Given the description of an element on the screen output the (x, y) to click on. 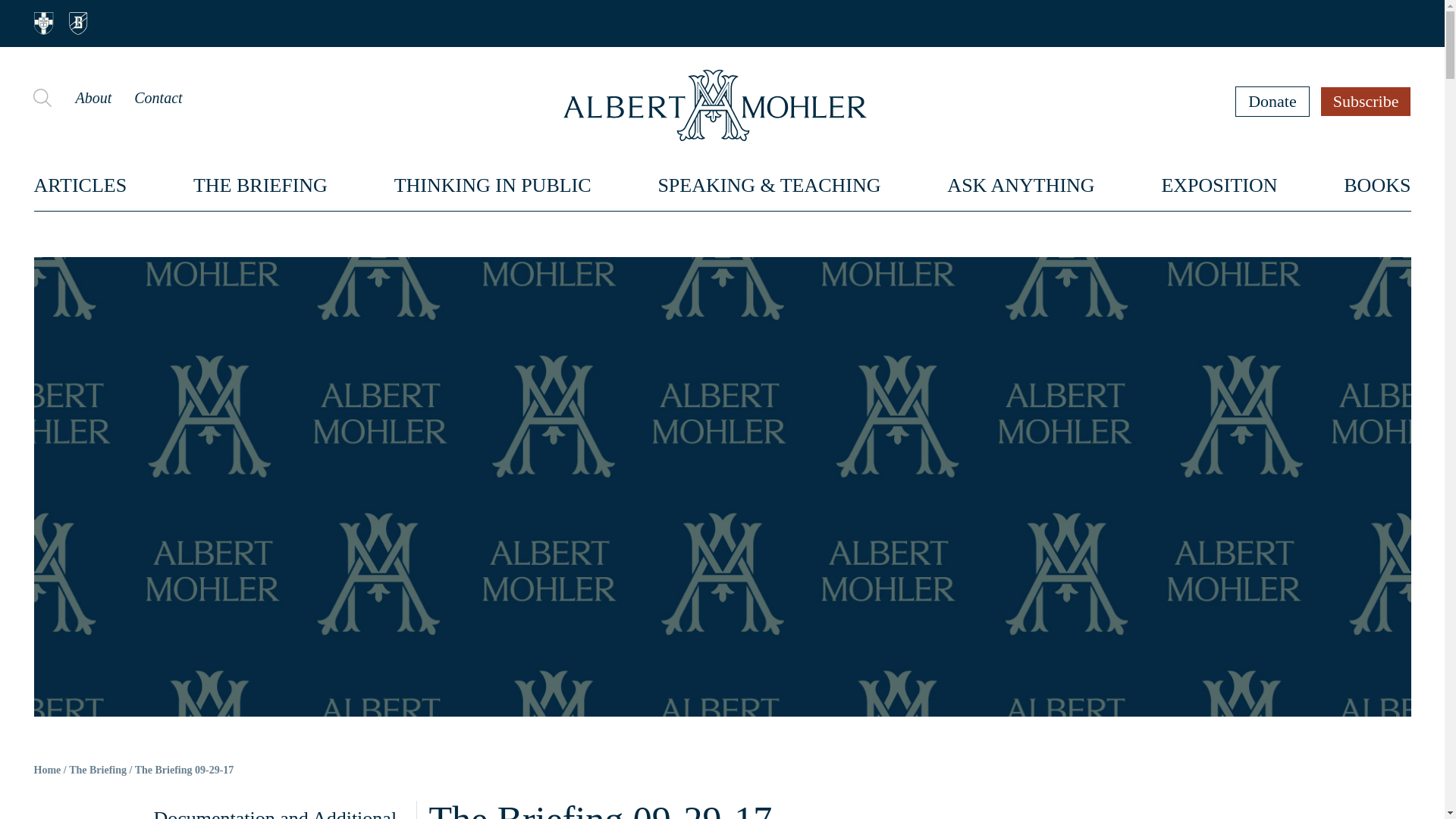
ASK ANYTHING (1020, 185)
About (93, 97)
The Briefing (97, 770)
Subscribe (1366, 101)
Contact (157, 97)
BOOKS (1376, 185)
EXPOSITION (1218, 185)
ARTICLES (79, 185)
Home (47, 770)
THINKING IN PUBLIC (492, 185)
Donate (1272, 101)
THE BRIEFING (260, 185)
